Given the description of an element on the screen output the (x, y) to click on. 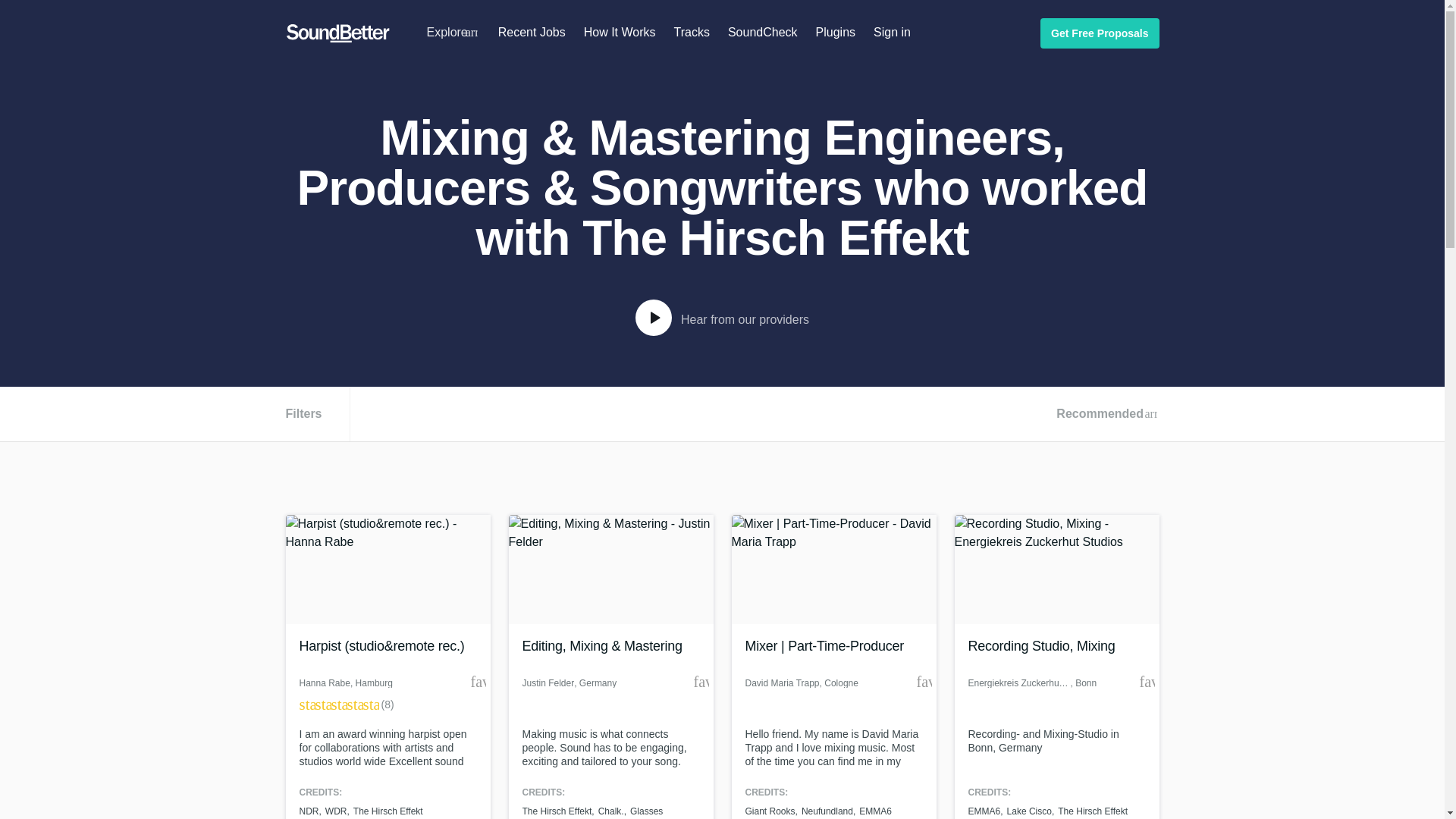
SoundBetter (337, 33)
